Given the description of an element on the screen output the (x, y) to click on. 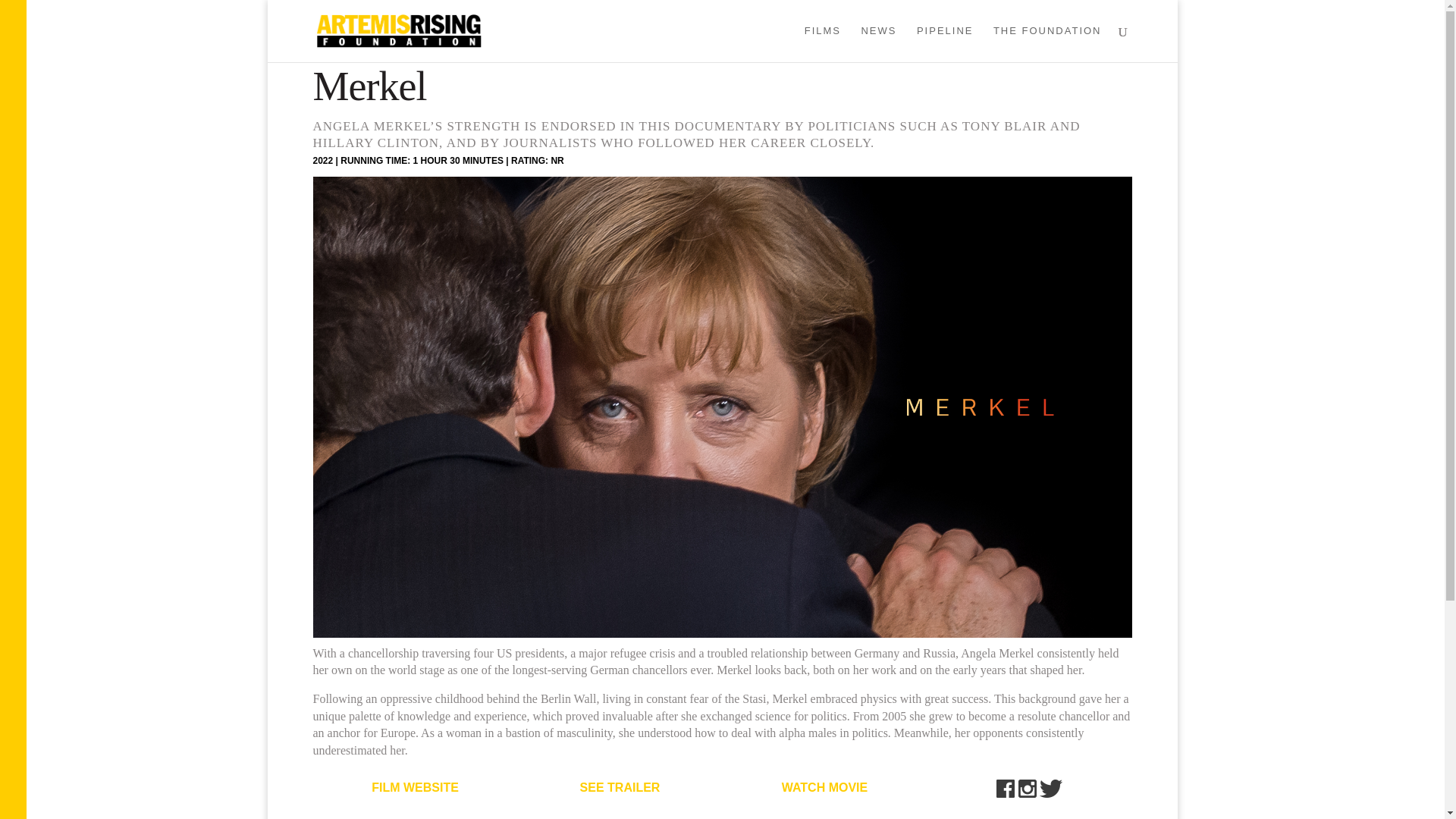
FILM WEBSITE (414, 787)
THE FOUNDATION (1047, 43)
SEE TRAILER (620, 787)
FILMS (823, 43)
PIPELINE (945, 43)
WATCH MOVIE (824, 787)
NEWS (878, 43)
